Given the description of an element on the screen output the (x, y) to click on. 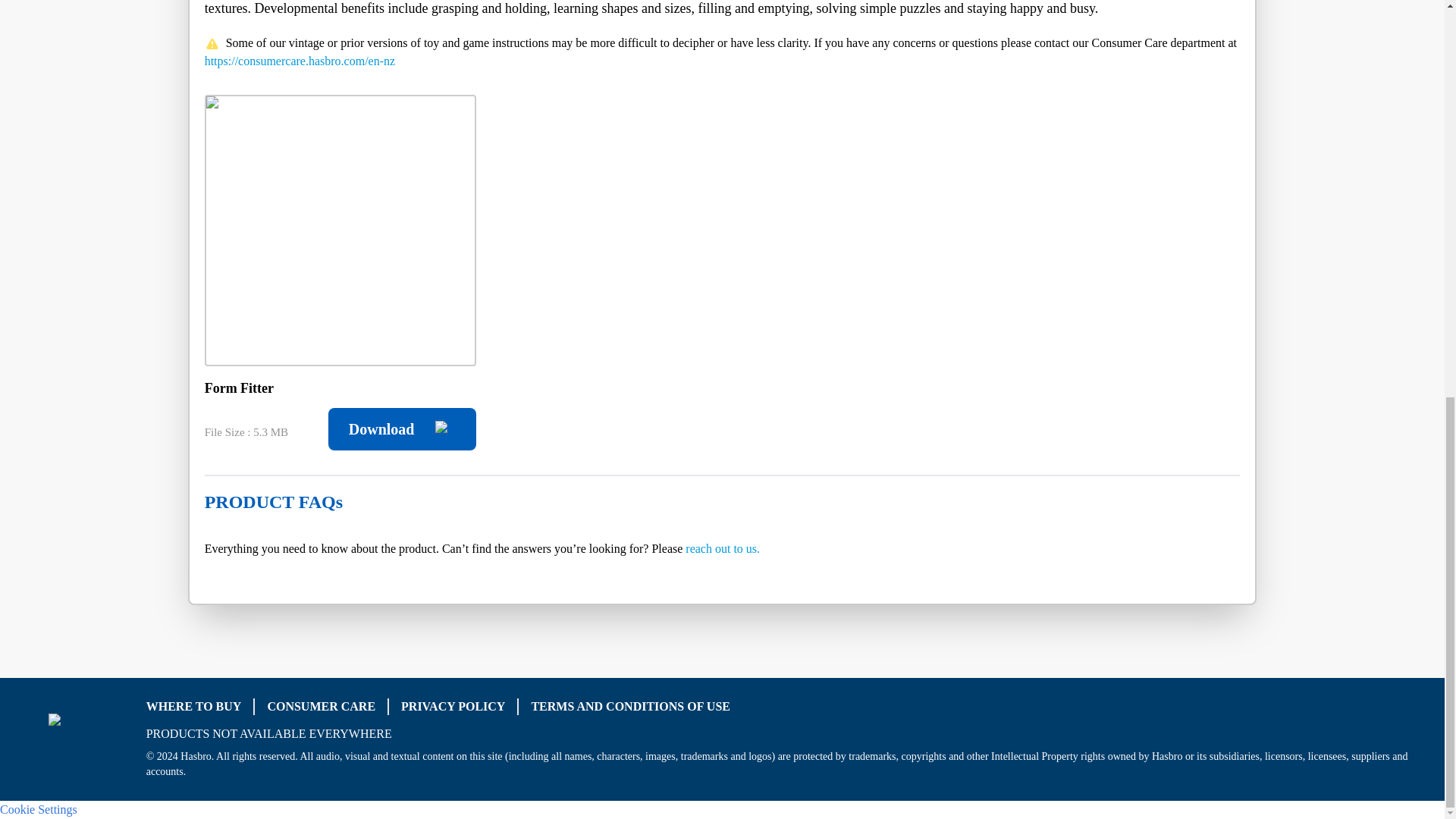
TERMS AND CONDITIONS OF USE (630, 706)
reach out to us. (722, 548)
CONSUMER CARE (320, 706)
WHERE TO BUY (194, 706)
PRIVACY POLICY (453, 706)
Download (402, 428)
